Given the description of an element on the screen output the (x, y) to click on. 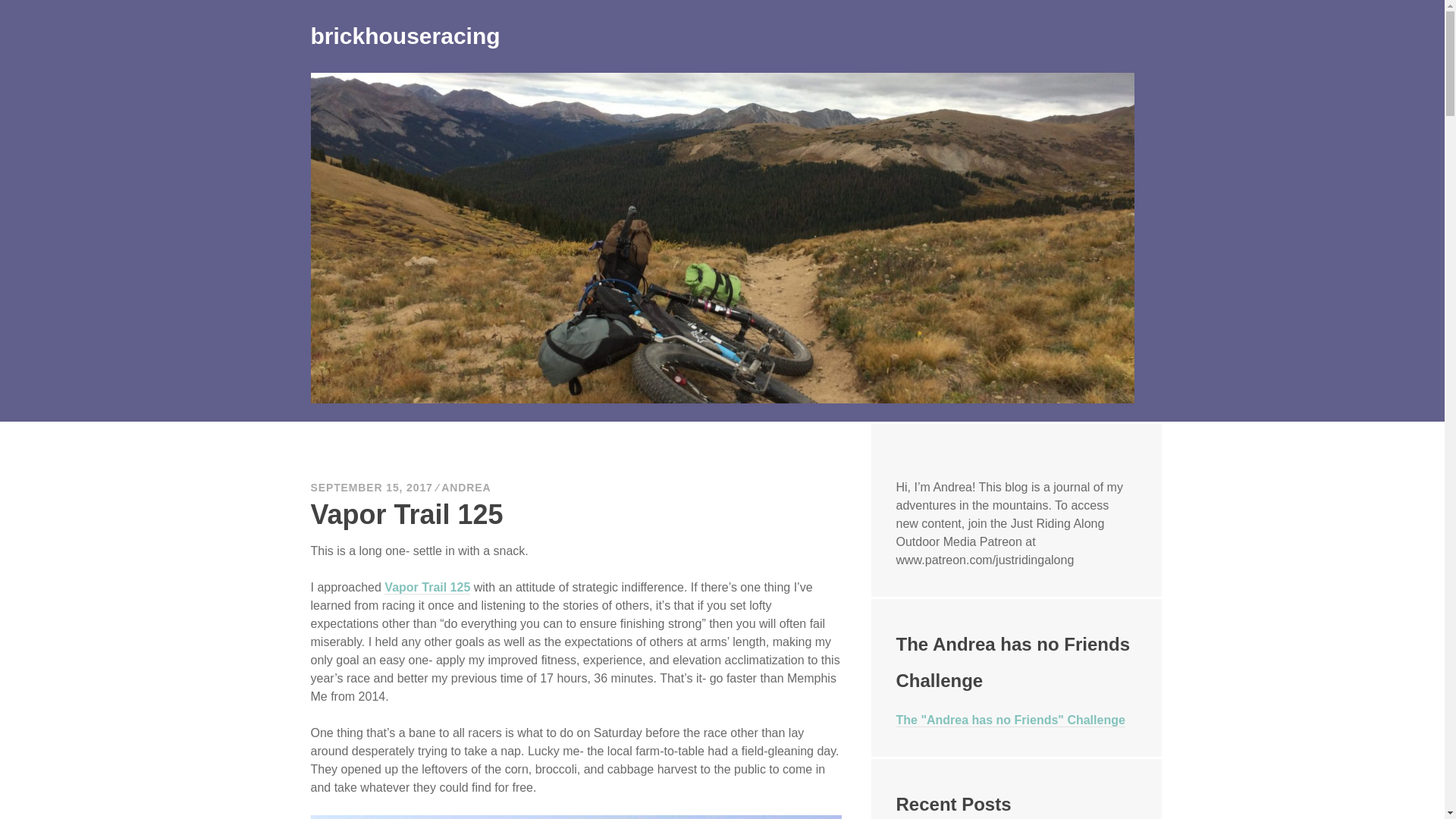
A route that will make you hate me (1010, 720)
brickhouseracing (405, 35)
SEPTEMBER 15, 2017 (371, 487)
Vapor Trail 125 (427, 587)
The "Andrea has no Friends" Challenge (1010, 720)
ANDREA (465, 487)
